Given the description of an element on the screen output the (x, y) to click on. 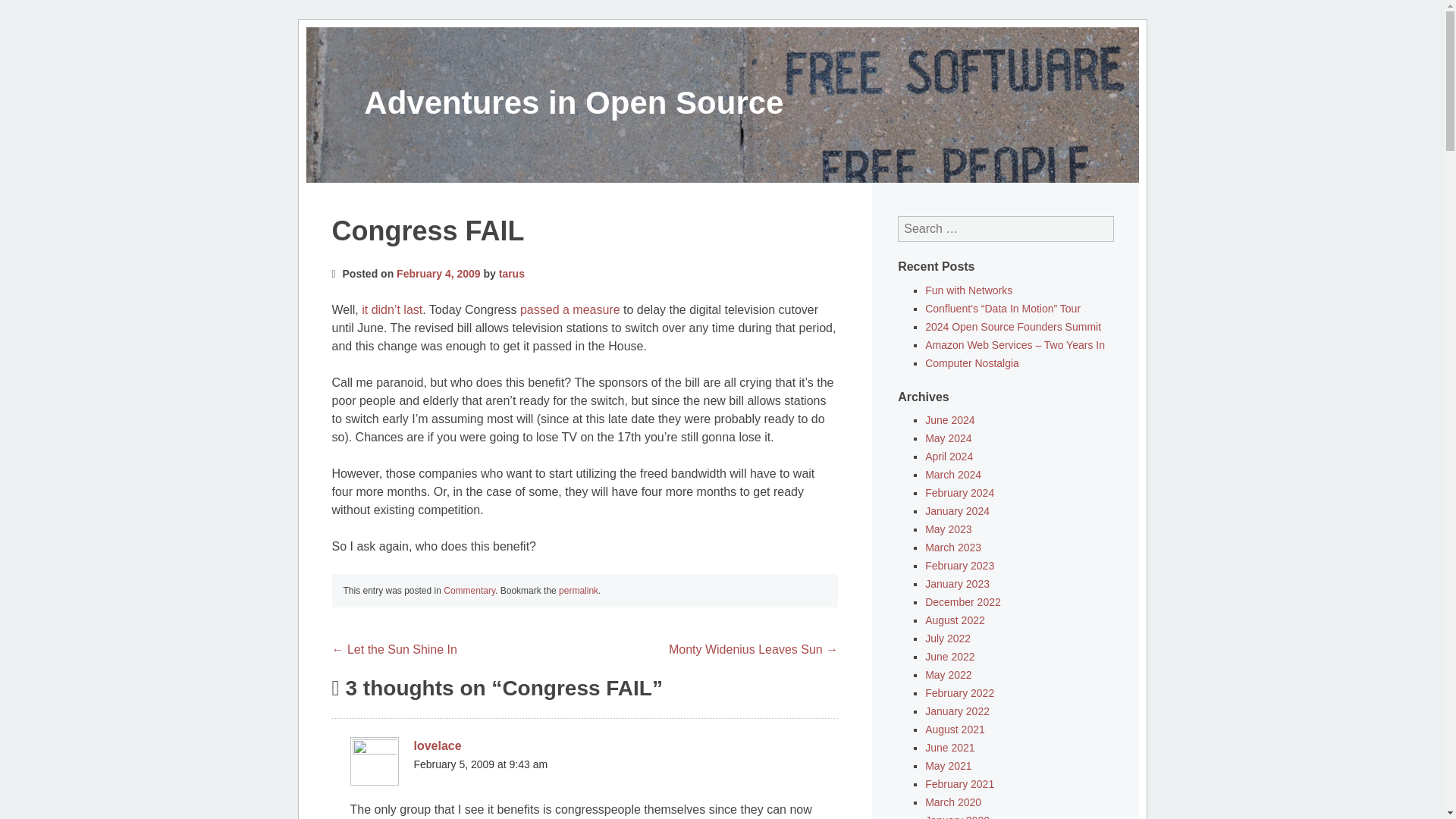
December 2022 (962, 602)
May 2024 (947, 438)
passed a measure (569, 309)
June 2024 (949, 419)
April 2024 (948, 456)
January 2023 (957, 583)
May 2022 (947, 674)
May 2023 (947, 529)
February 2022 (959, 693)
Commentary (469, 590)
August 2022 (954, 620)
January 2024 (957, 510)
March 2023 (952, 547)
February 5, 2009 at 9:43 am (480, 764)
January 2022 (957, 711)
